Given the description of an element on the screen output the (x, y) to click on. 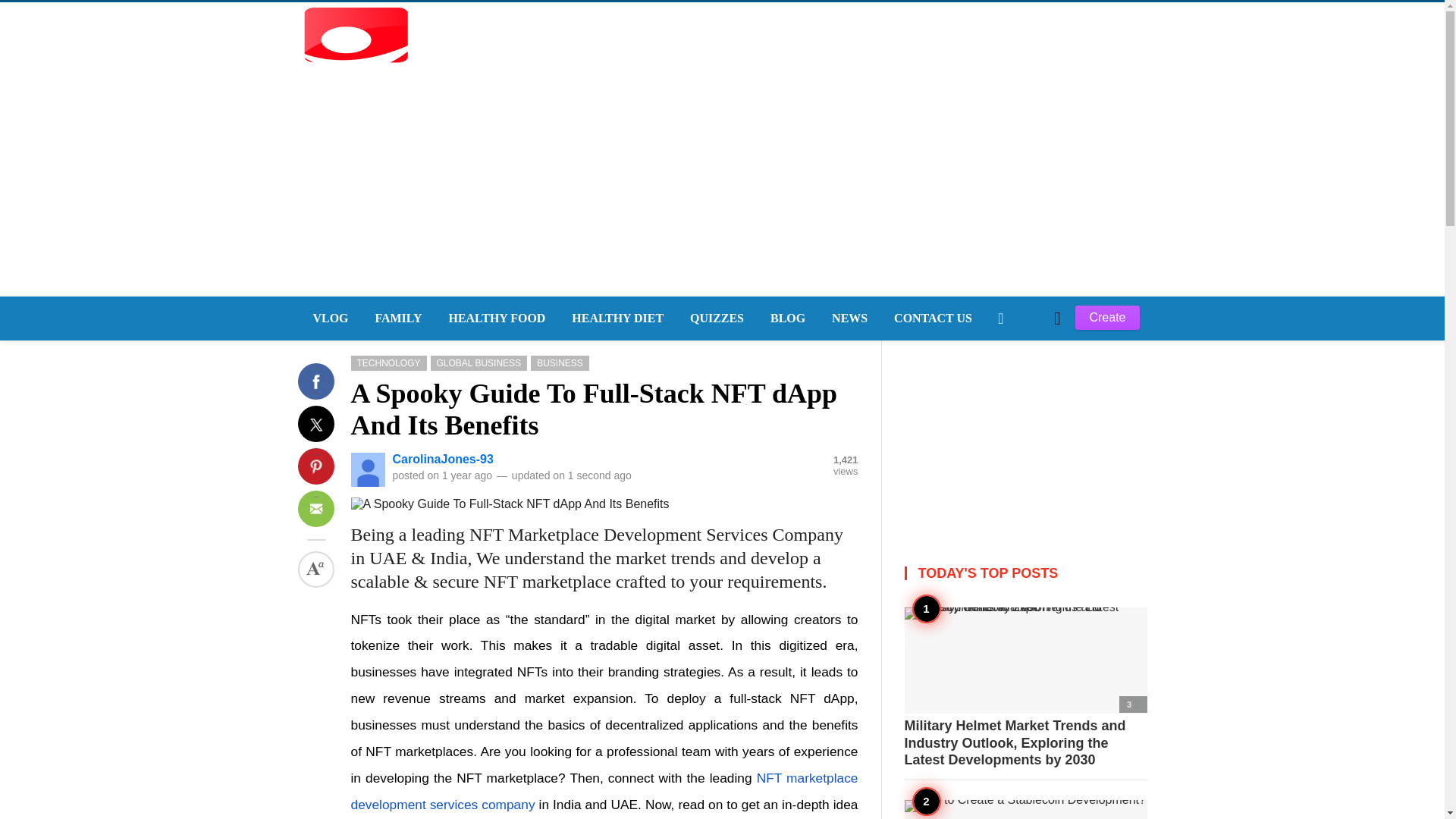
BUSINESS (560, 363)
QUIZZES (715, 318)
CONTACT US (931, 318)
Log in (1019, 416)
HEALTHY DIET (615, 318)
Create (1106, 317)
A Spooky Guide To Full-Stack NFT dApp And Its Benefits (593, 409)
GLOBAL BUSINESS (478, 363)
NEWS (847, 318)
HEALTHY FOOD (495, 318)
How to Create a Stablecoin Development? (1025, 809)
sign up (1019, 416)
FAMILY (395, 318)
